Given the description of an element on the screen output the (x, y) to click on. 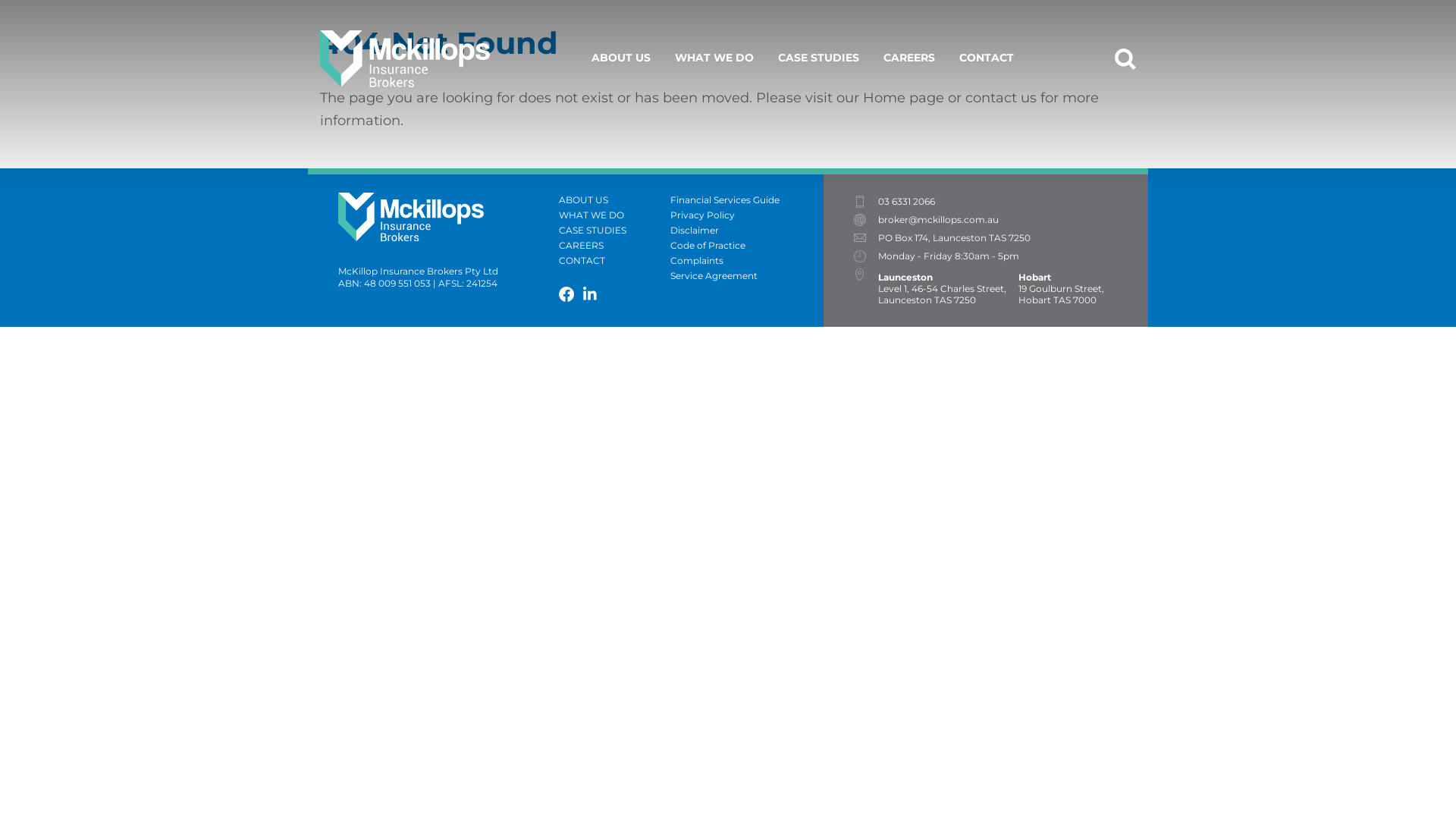
broker@mckillops.com.au Element type: text (938, 219)
Disclaimer Element type: text (746, 230)
CONTACT Element type: text (614, 260)
CAREERS Element type: text (614, 245)
Financial Services Guide Element type: text (746, 199)
Privacy Policy Element type: text (746, 214)
Complaints Element type: text (746, 260)
ABOUT US Element type: text (614, 199)
WHAT WE DO Element type: text (713, 57)
Service Agreement Element type: text (746, 275)
WHAT WE DO Element type: text (614, 214)
03 6331 2066 Element type: text (906, 201)
CASE STUDIES Element type: text (614, 230)
CASE STUDIES Element type: text (818, 57)
CAREERS Element type: text (908, 57)
contact us Element type: text (1000, 97)
Code of Practice Element type: text (746, 245)
Home page Element type: text (903, 97)
ABOUT US Element type: text (620, 57)
CONTACT Element type: text (985, 57)
